Given the description of an element on the screen output the (x, y) to click on. 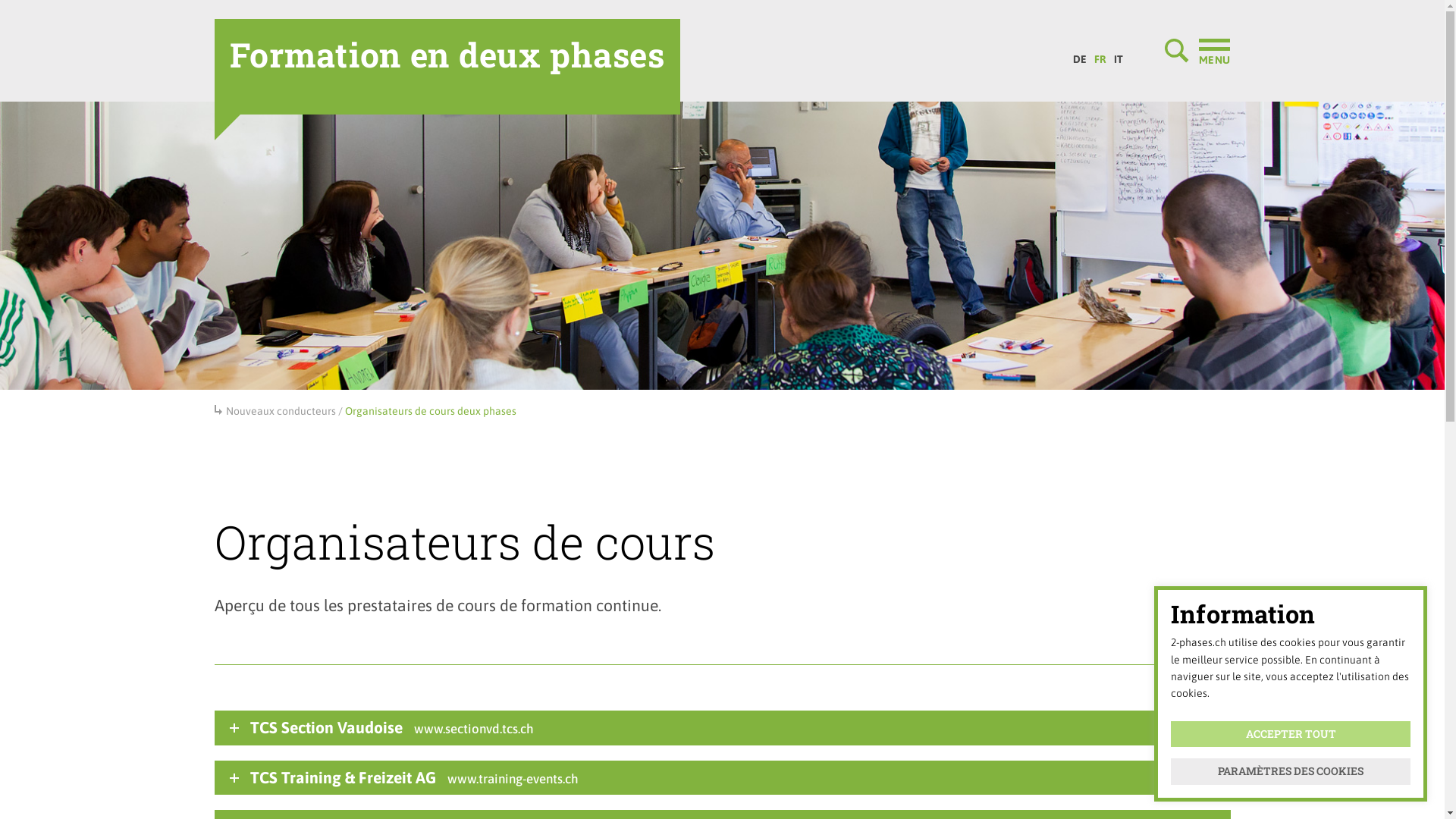
Formation en
deux phases Element type: text (446, 66)
FR Element type: text (1100, 55)
www.sectionvd.tcs.ch Element type: text (473, 728)
MENU Element type: text (1197, 50)
Nouveaux conducteurs Element type: text (280, 410)
ACCEPTER TOUT Element type: text (1290, 734)
www.training-events.ch Element type: text (512, 778)
IT Element type: text (1118, 55)
DE Element type: text (1079, 55)
